Given the description of an element on the screen output the (x, y) to click on. 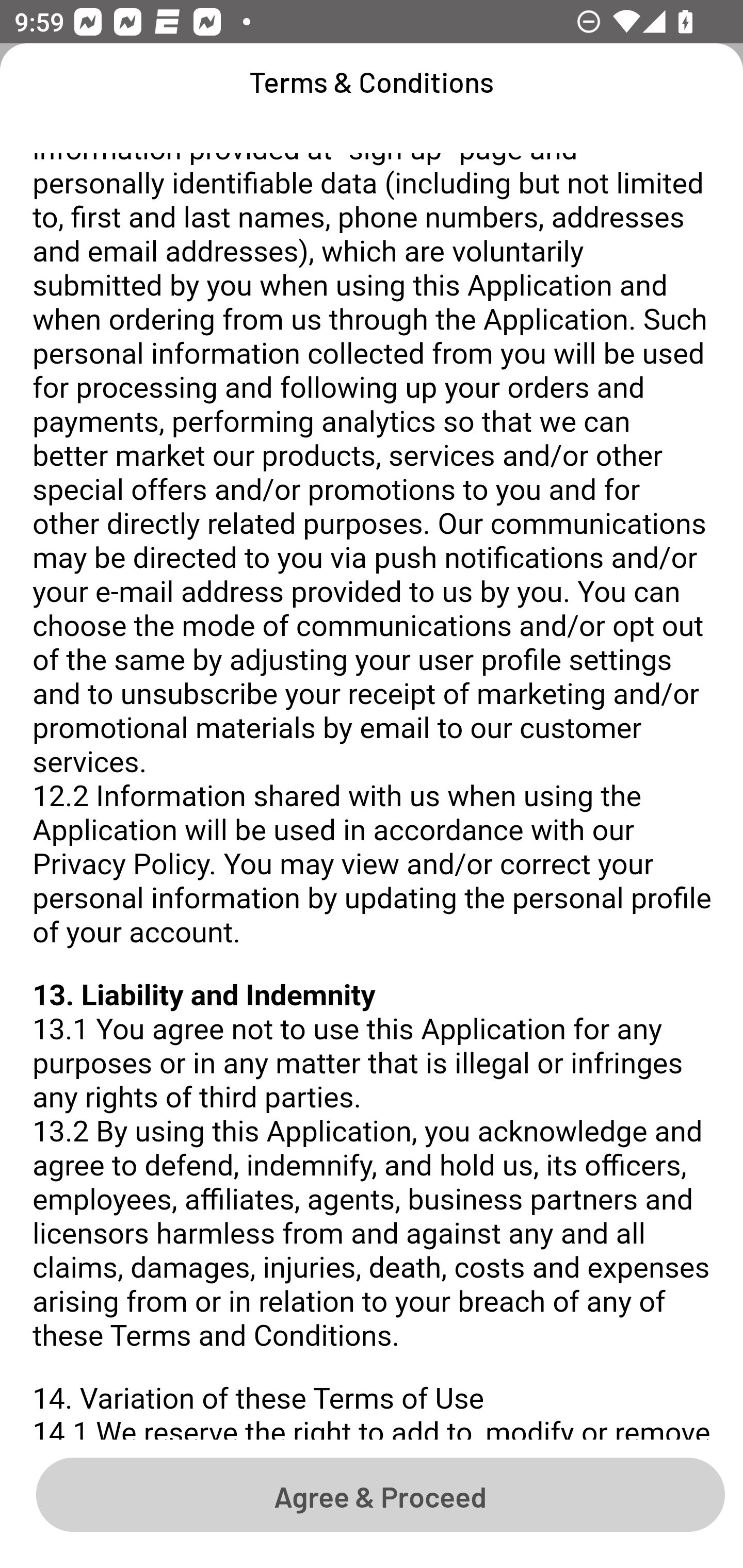
Agree & Proceed (380, 1494)
